Given the description of an element on the screen output the (x, y) to click on. 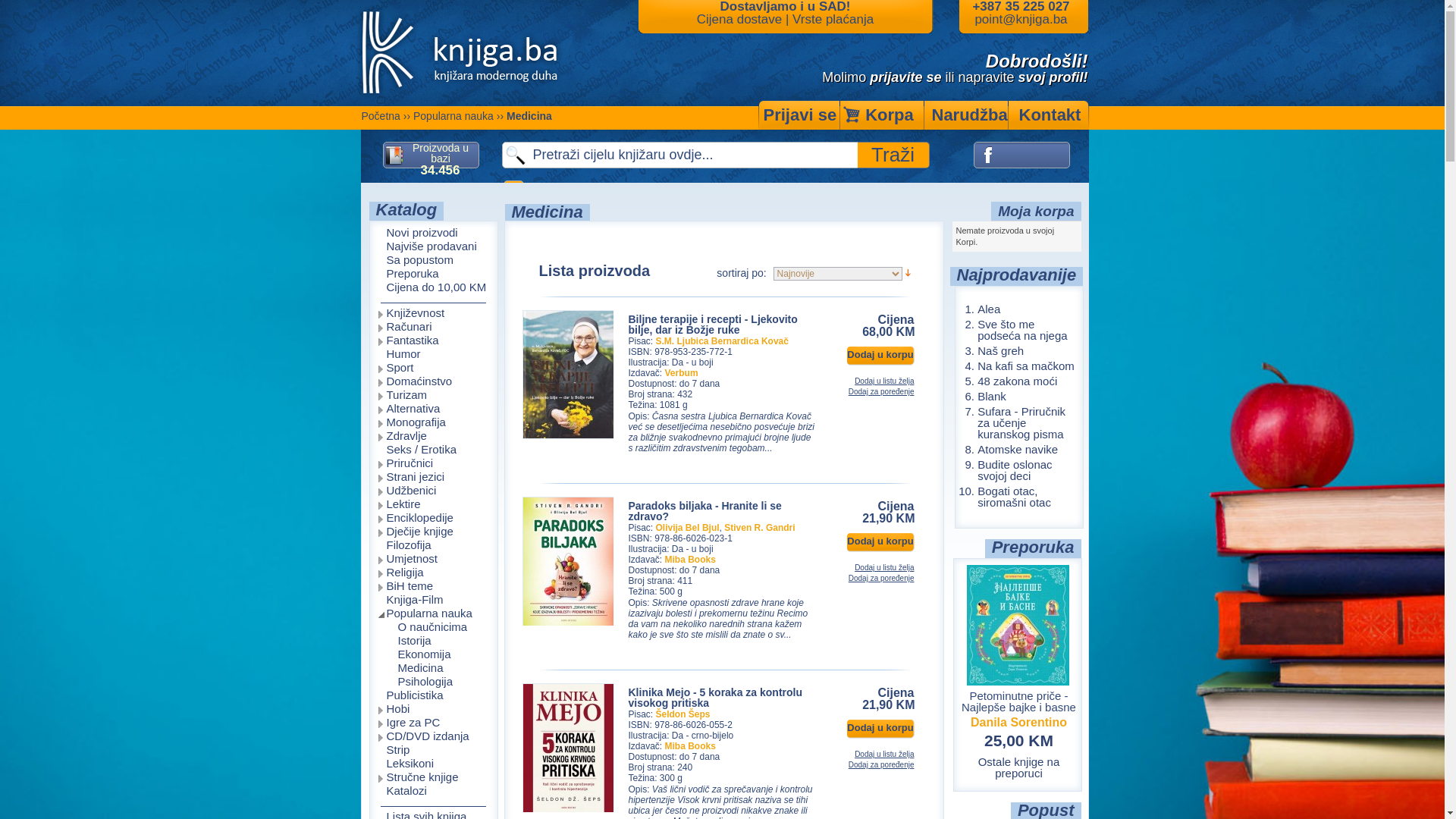
Blank Element type: text (991, 395)
Kontakt Element type: text (1050, 114)
CD/DVD izdanja Element type: text (434, 736)
Stiven R. Gandri Element type: text (759, 527)
Popularna nauka Element type: text (434, 614)
Knjiga-Film Element type: text (434, 600)
Alternativa Element type: text (434, 409)
BiH teme Element type: text (434, 586)
Strani jezici Element type: text (434, 477)
Publicistika Element type: text (434, 695)
Zdravlje Element type: text (434, 436)
34.456 Element type: text (439, 169)
Verbum Element type: text (681, 372)
Psihologija Element type: text (433, 682)
Strip Element type: text (434, 750)
Umjetnost Element type: text (434, 559)
Sport Element type: text (434, 368)
Dodaj u korpu Element type: text (880, 729)
Religija Element type: text (434, 573)
Ostale knjige na preporuci Element type: text (1019, 767)
Napredna pretraga Element type: hover (513, 193)
Danila Sorentino Element type: text (1018, 721)
Hobi Element type: text (434, 709)
Seks / Erotika Element type: text (434, 450)
Paradoks biljaka - Hranite li se zdravo? Element type: hover (567, 624)
Miba Books Element type: text (690, 745)
Miba Books Element type: text (690, 559)
Turizam Element type: text (434, 395)
Humor Element type: text (434, 354)
Monografija Element type: text (434, 422)
Klinika Mejo - 5 koraka za kontrolu visokog pritiska Element type: text (714, 697)
Katalozi Element type: text (434, 791)
Lektire Element type: text (434, 504)
Istorija Element type: text (433, 641)
Olivija Bel Bjul Element type: text (687, 527)
Paradoks biljaka - Hranite li se zdravo? Element type: text (704, 510)
Ekonomija Element type: text (433, 655)
Popularna nauka Element type: text (453, 115)
Medicina Element type: text (433, 668)
prijavite se Element type: text (905, 76)
Cijena do 10,00 KM Element type: text (432, 287)
Enciklopedije Element type: text (434, 518)
Preporuka Element type: text (432, 274)
Novi proizvodi Element type: text (432, 233)
Filozofija Element type: text (434, 545)
Korpa Element type: text (881, 114)
svoj profil! Element type: text (1052, 76)
Budite oslonac svojoj deci Element type: text (1014, 470)
Dodaj u korpu Element type: text (880, 542)
Sa popustom Element type: text (432, 260)
Set Ascending Direction Element type: hover (907, 272)
Alea Element type: text (988, 308)
Prijavi se Element type: text (796, 114)
point@knjiga.ba Element type: text (1020, 19)
Dodaj u korpu Element type: text (880, 356)
Igre za PC Element type: text (434, 723)
Fantastika Element type: text (434, 341)
Cijena dostave Element type: text (738, 19)
Atomske navike Element type: text (1017, 448)
Leksikoni Element type: text (434, 764)
